Given the description of an element on the screen output the (x, y) to click on. 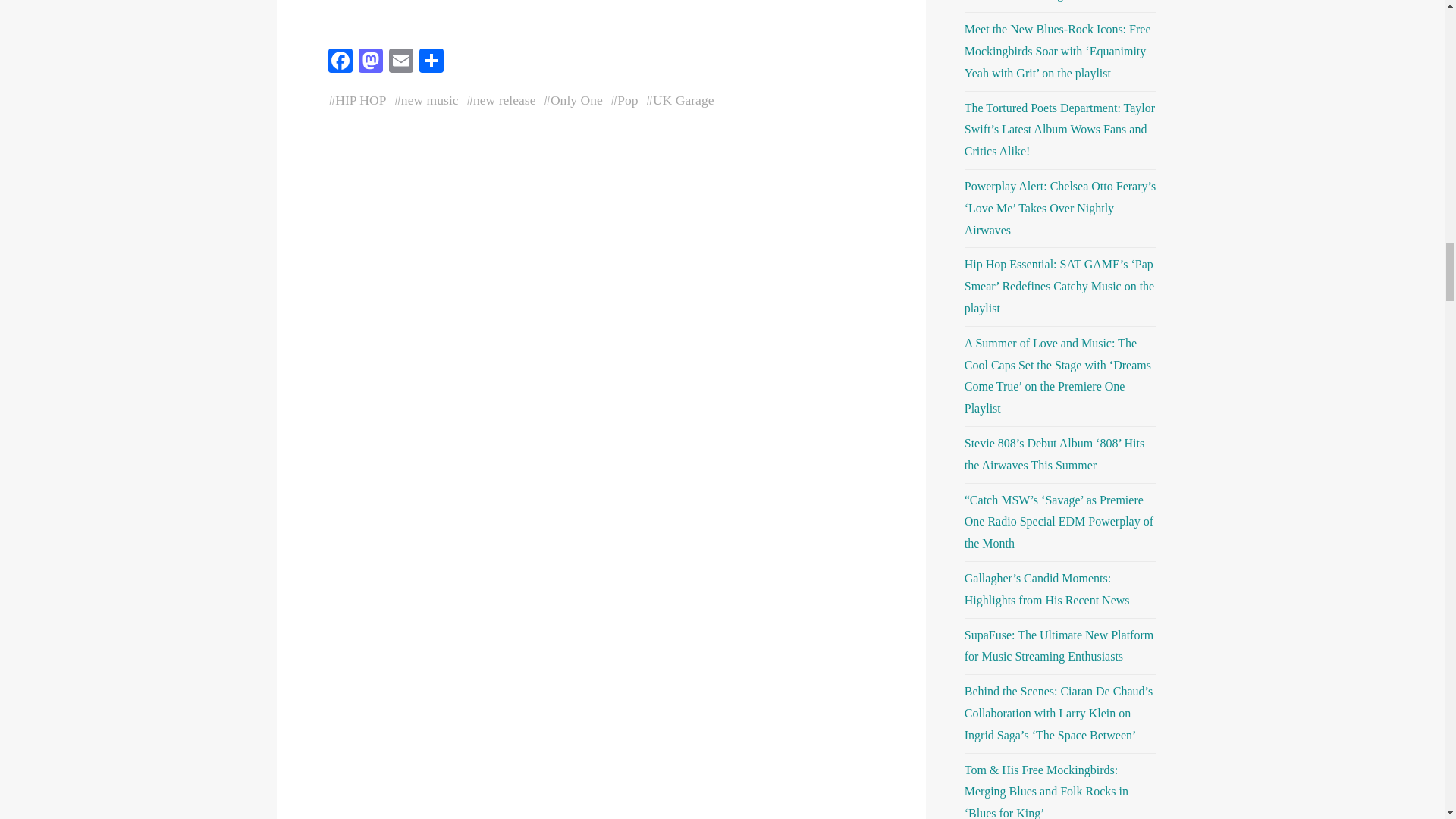
Pop (627, 99)
Only One (576, 99)
Share (429, 62)
Mastodon (370, 62)
Email (399, 62)
UK Garage (682, 99)
Spotify Embed: Only One (600, 18)
Mastodon (370, 62)
HIP HOP (359, 99)
Email (399, 62)
new music (429, 99)
new release (503, 99)
Facebook (339, 62)
Facebook (339, 62)
